Given the description of an element on the screen output the (x, y) to click on. 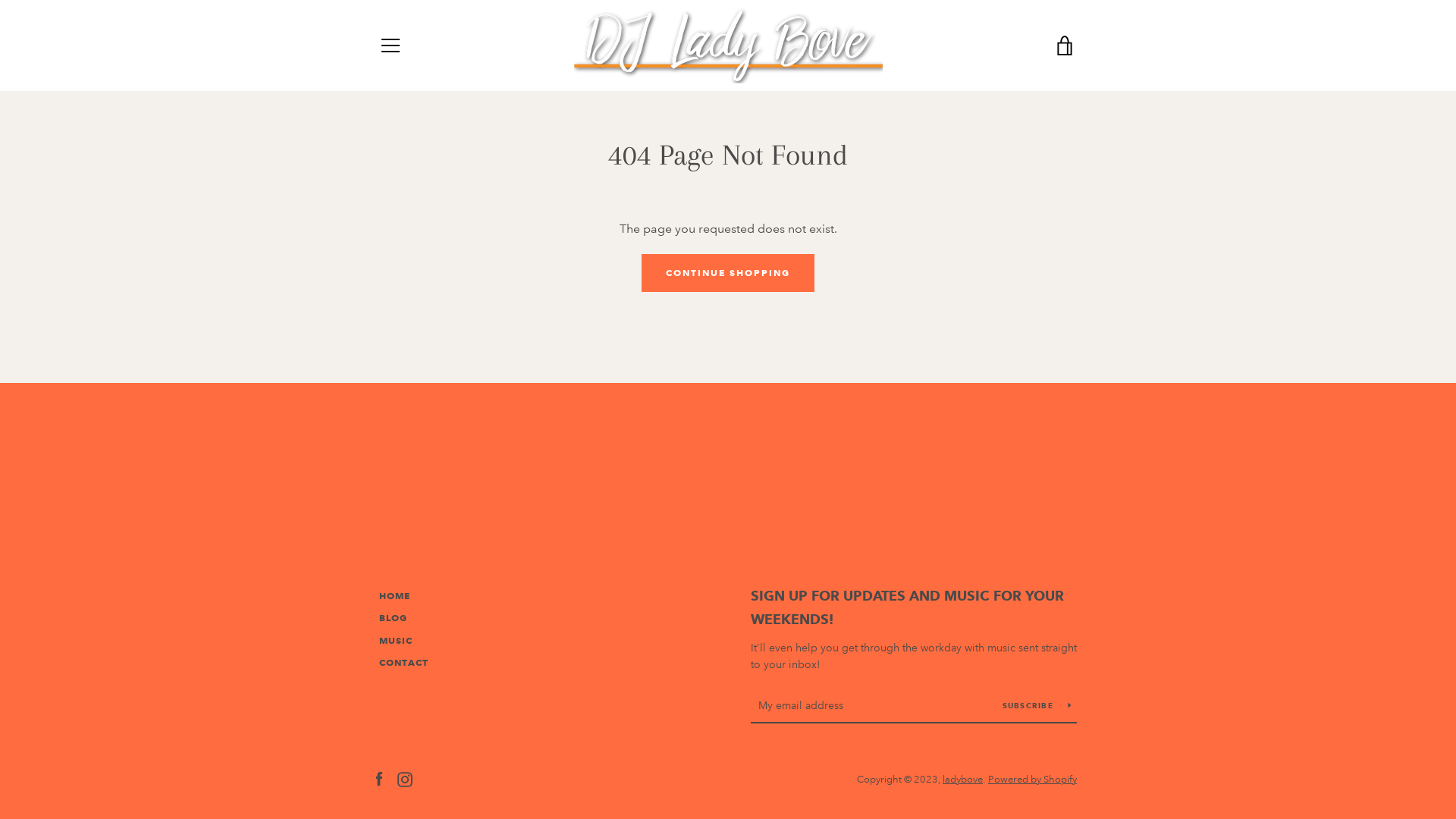
Instagram Element type: text (404, 778)
BLOG Element type: text (393, 617)
Facebook Element type: text (378, 778)
VIEW CART Element type: text (1065, 45)
Powered by Shopify Element type: text (1032, 779)
SUBSCRIBE Element type: text (1036, 705)
CONTINUE SHOPPING Element type: text (727, 272)
MUSIC Element type: text (395, 640)
ladybove Element type: text (962, 779)
Skip to content Element type: text (0, 0)
MENU Element type: text (390, 45)
HOME Element type: text (394, 595)
CONTACT Element type: text (403, 662)
